Given the description of an element on the screen output the (x, y) to click on. 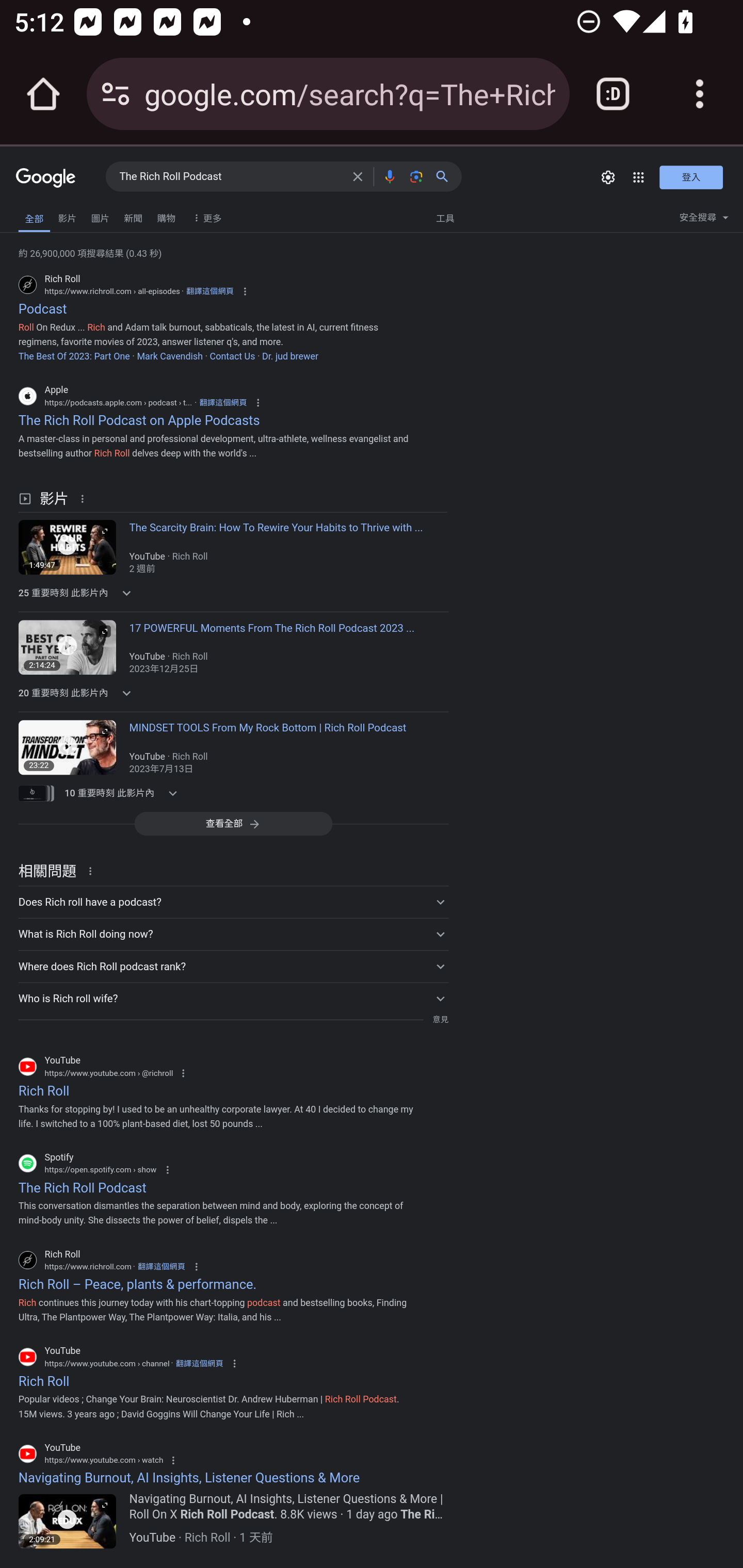
Open the home page (43, 93)
Connection is secure (115, 93)
Switch or close tabs (612, 93)
Customize and control Google Chrome (699, 93)
 清除 (357, 176)
語音搜尋 (389, 176)
以圖搜尋 (415, 176)
搜尋  (446, 176)
設定 (608, 176)
Google 應用程式 (638, 176)
登入 (690, 176)
Google (45, 178)
The Rich Roll Podcast (229, 177)
無障礙功能意見 (42, 212)
影片 (67, 216)
圖片 (99, 216)
新聞 (133, 216)
購物 (166, 216)
更多 (205, 216)
安全搜尋 (703, 219)
工具 (444, 216)
翻譯這個網頁 (209, 291)
The Best Of 2023: Part One (73, 356)
Mark Cavendish (168, 356)
Contact Us (231, 356)
Dr. jud brewer (289, 356)
翻譯這個網頁 (223, 402)
關於此結果 (85, 497)
25 重要時刻  此影片內 (123, 592)
20 重要時刻  此影片內 (123, 692)
10 重要時刻  此影片內 (123, 793)
查看全部 (233, 822)
關於此結果 (93, 870)
Does Rich roll have a podcast? (232, 901)
What is Rich Roll doing now? (232, 933)
Where does Rich Roll podcast rank? (232, 965)
Who is Rich roll wife? (232, 997)
意見 (439, 1019)
翻譯這個網頁 (160, 1266)
翻譯這個網頁 (199, 1363)
